Given the description of an element on the screen output the (x, y) to click on. 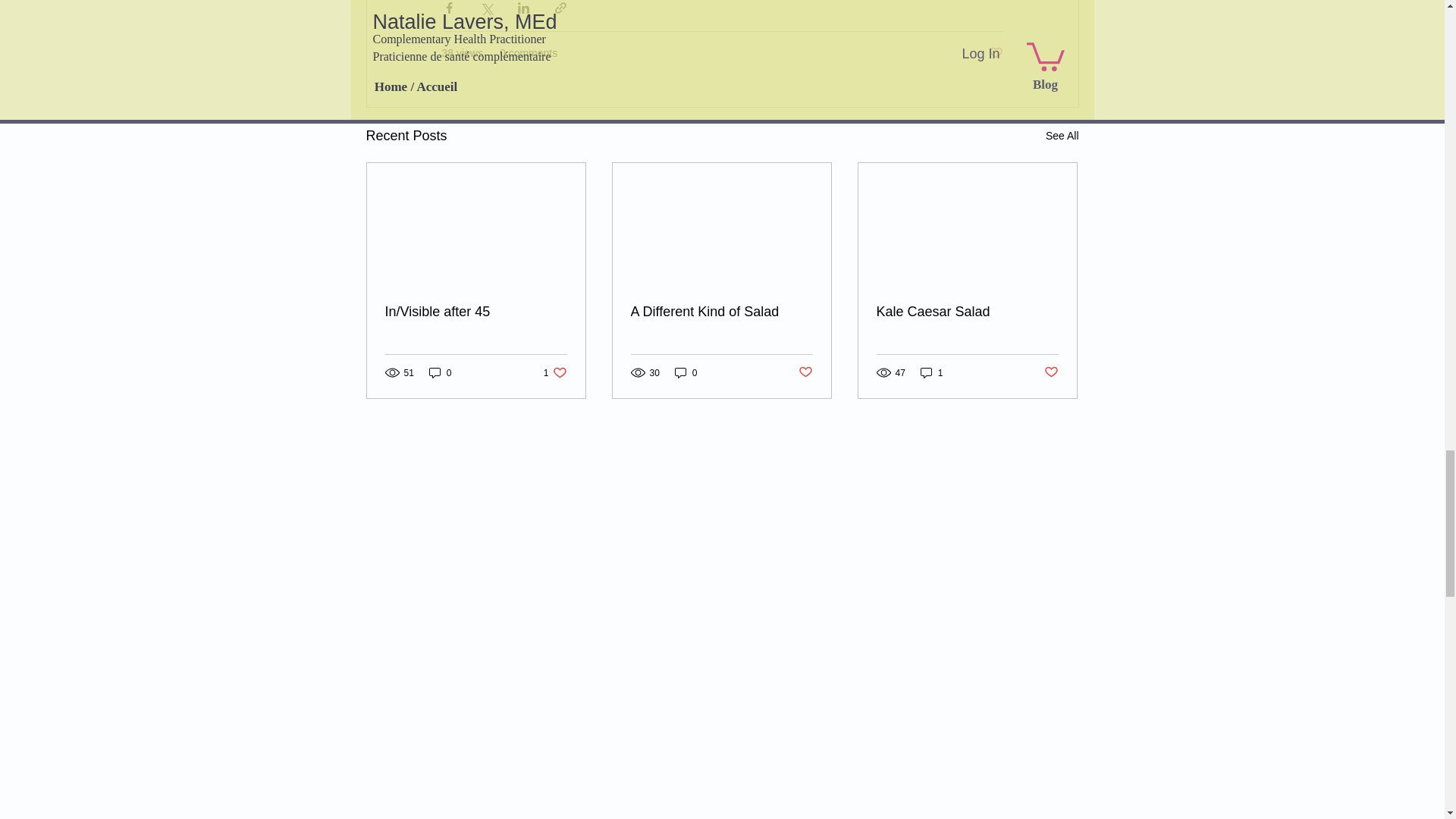
1 (931, 372)
Kale Caesar Salad (967, 311)
0 (685, 372)
Post not marked as liked (1050, 372)
Post not marked as liked (804, 372)
See All (1061, 136)
0 (440, 372)
Post not marked as liked (995, 53)
A Different Kind of Salad (721, 311)
